Given the description of an element on the screen output the (x, y) to click on. 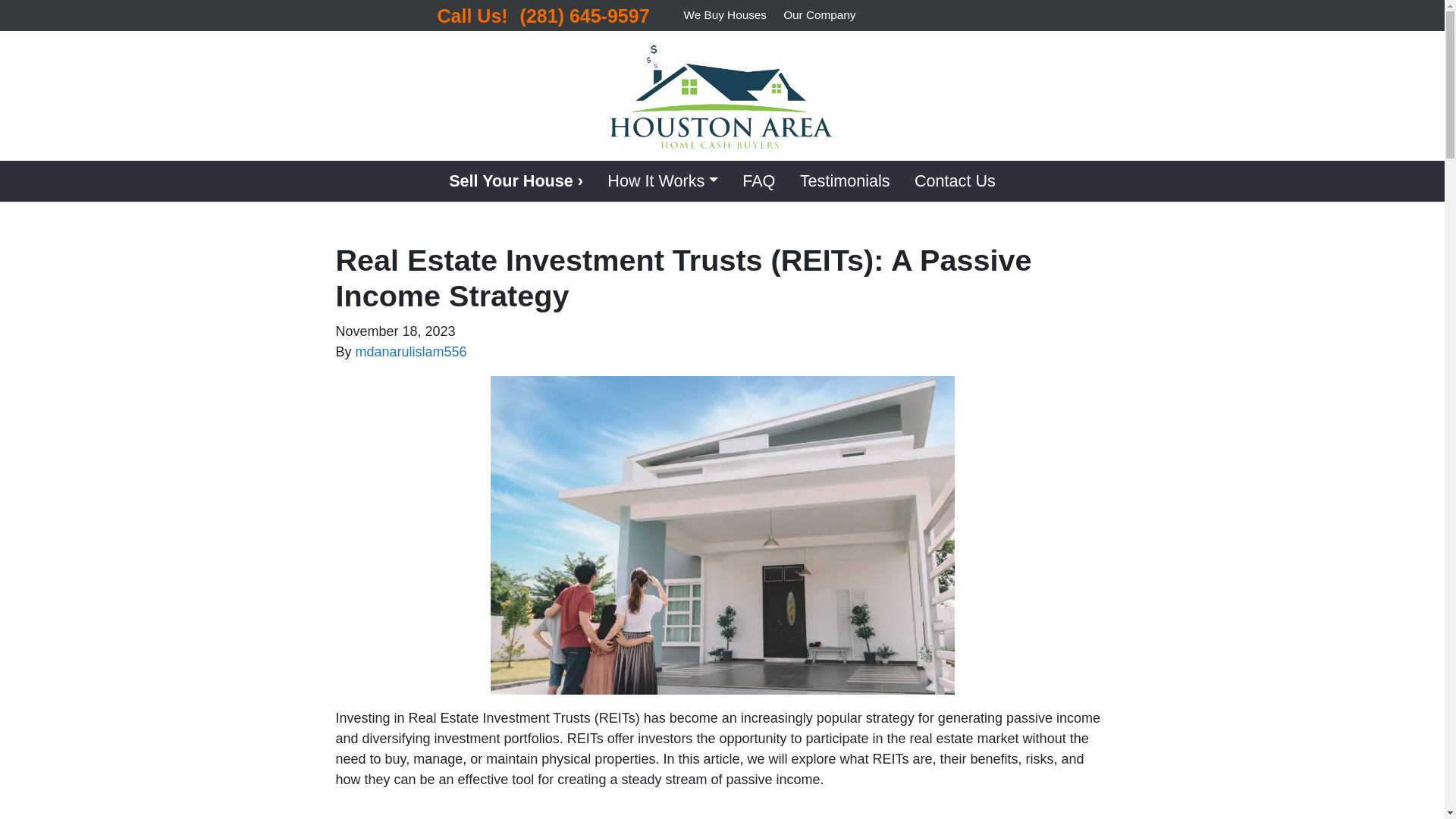
We Buy Houses (725, 15)
Houzz (999, 14)
Zillow (981, 14)
mdanarulislam556 (411, 351)
LinkedIn (944, 14)
Instagram (963, 14)
YouTube (926, 14)
Our Company (818, 15)
Contact Us (954, 180)
Testimonials (844, 180)
